Given the description of an element on the screen output the (x, y) to click on. 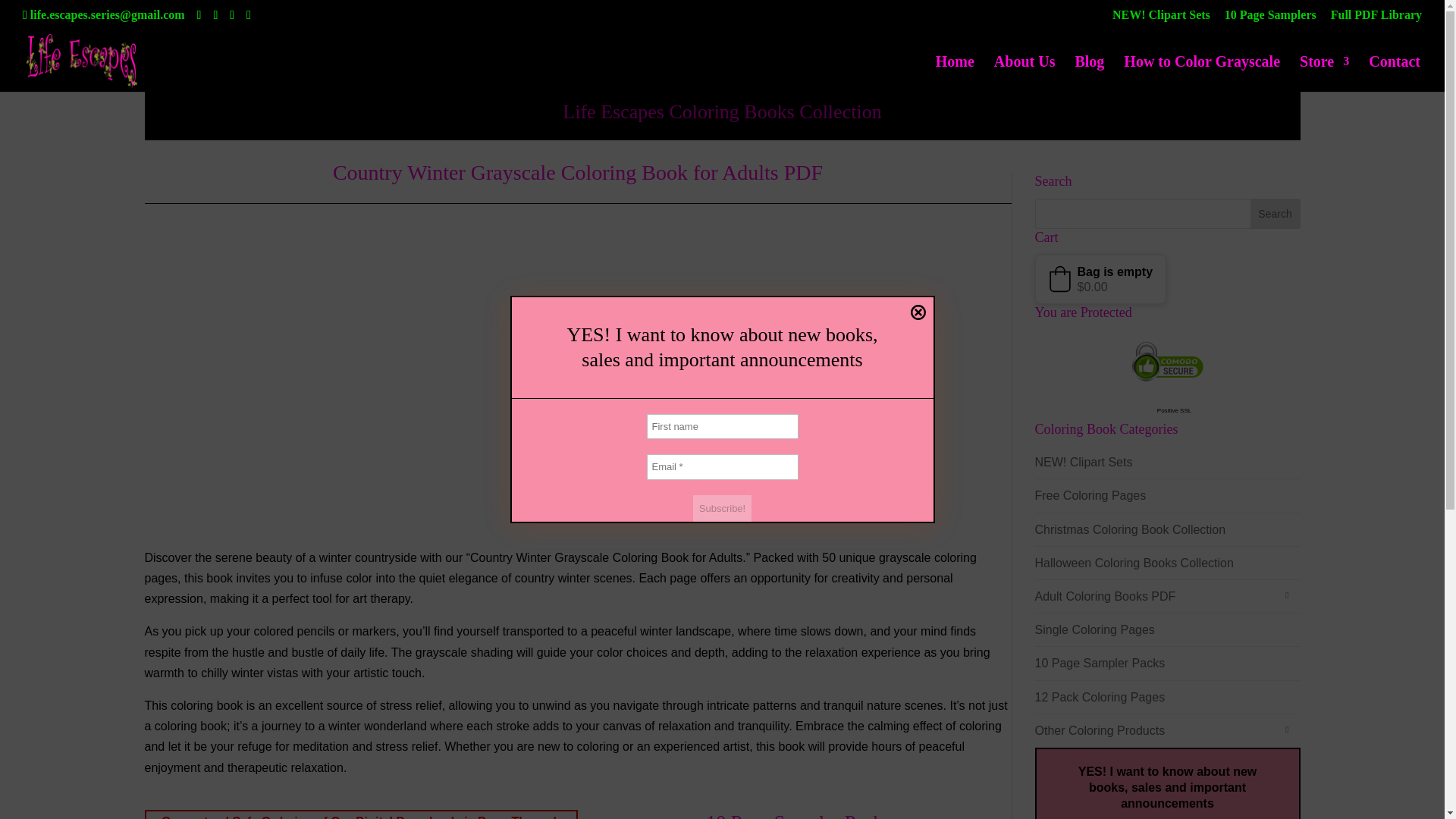
Contact (1394, 73)
Email (721, 466)
Store (1324, 73)
10 Page Samplers (1270, 19)
Subscribe! (722, 508)
First name (721, 426)
Full PDF Library (1376, 19)
Search (1275, 214)
Home (955, 73)
NEW! Clipart Sets (1160, 19)
About Us (1024, 73)
How to Color Grayscale (1201, 73)
